Given the description of an element on the screen output the (x, y) to click on. 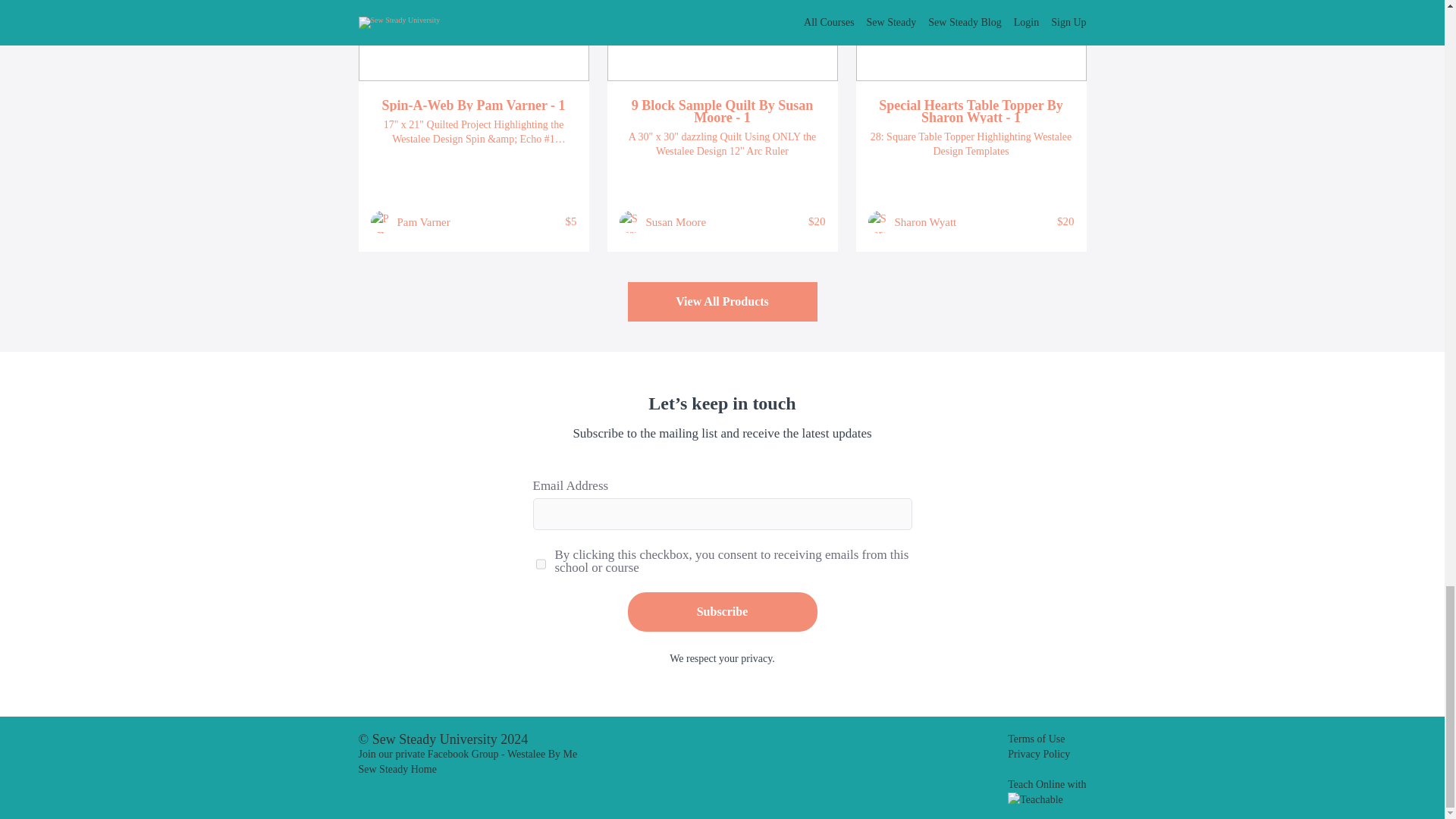
Special Hearts Table Topper By Sharon Wyatt - 1 (970, 111)
View All Products (721, 301)
Pam Varner (423, 221)
Sew Steady Home (396, 768)
Teach Online with (1046, 790)
Susan Moore (676, 221)
View All Products (721, 302)
Join our private Facebook Group - Westalee By Me (467, 754)
